Given the description of an element on the screen output the (x, y) to click on. 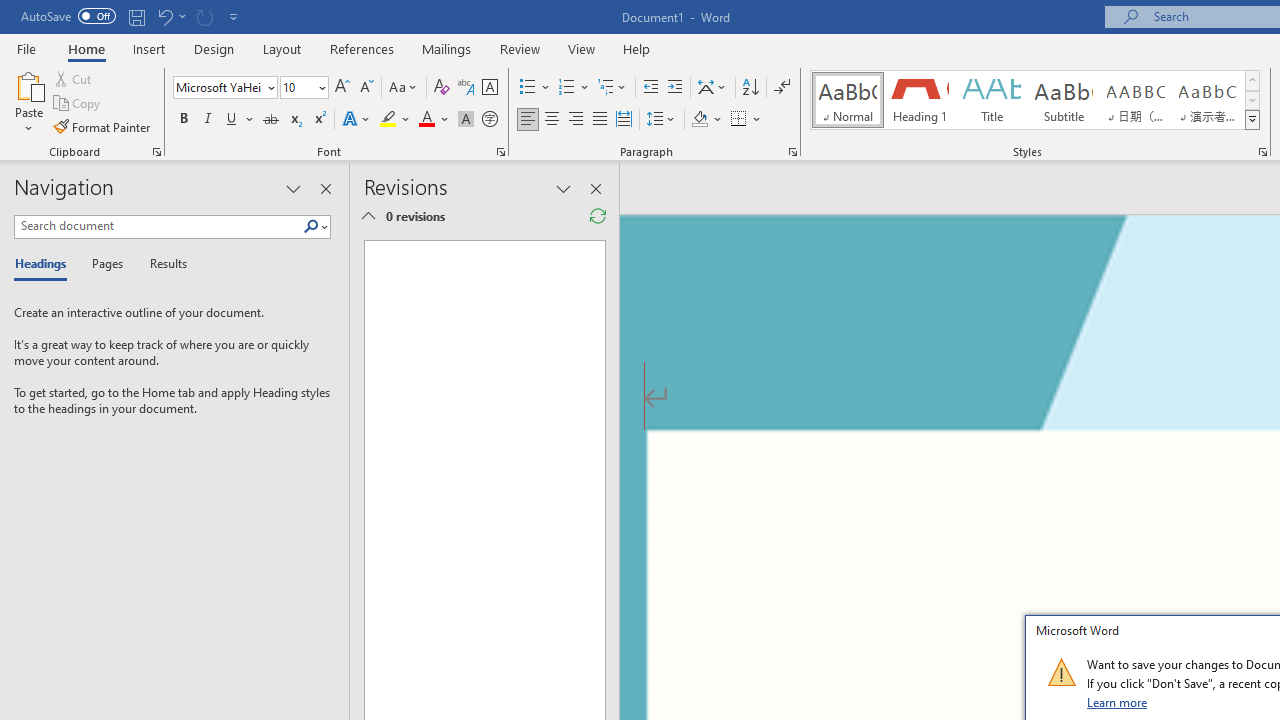
Enclose Characters... (489, 119)
Justify (599, 119)
Heading 1 (920, 100)
Search (311, 227)
Character Border (489, 87)
Show Detailed Summary (368, 215)
Text Effects and Typography (357, 119)
Quick Access Toolbar (131, 16)
Multilevel List (613, 87)
Bold (183, 119)
Class: NetUIImage (1061, 671)
Shrink Font (365, 87)
AutoSave (68, 16)
Styles (1252, 120)
Align Left (527, 119)
